Given the description of an element on the screen output the (x, y) to click on. 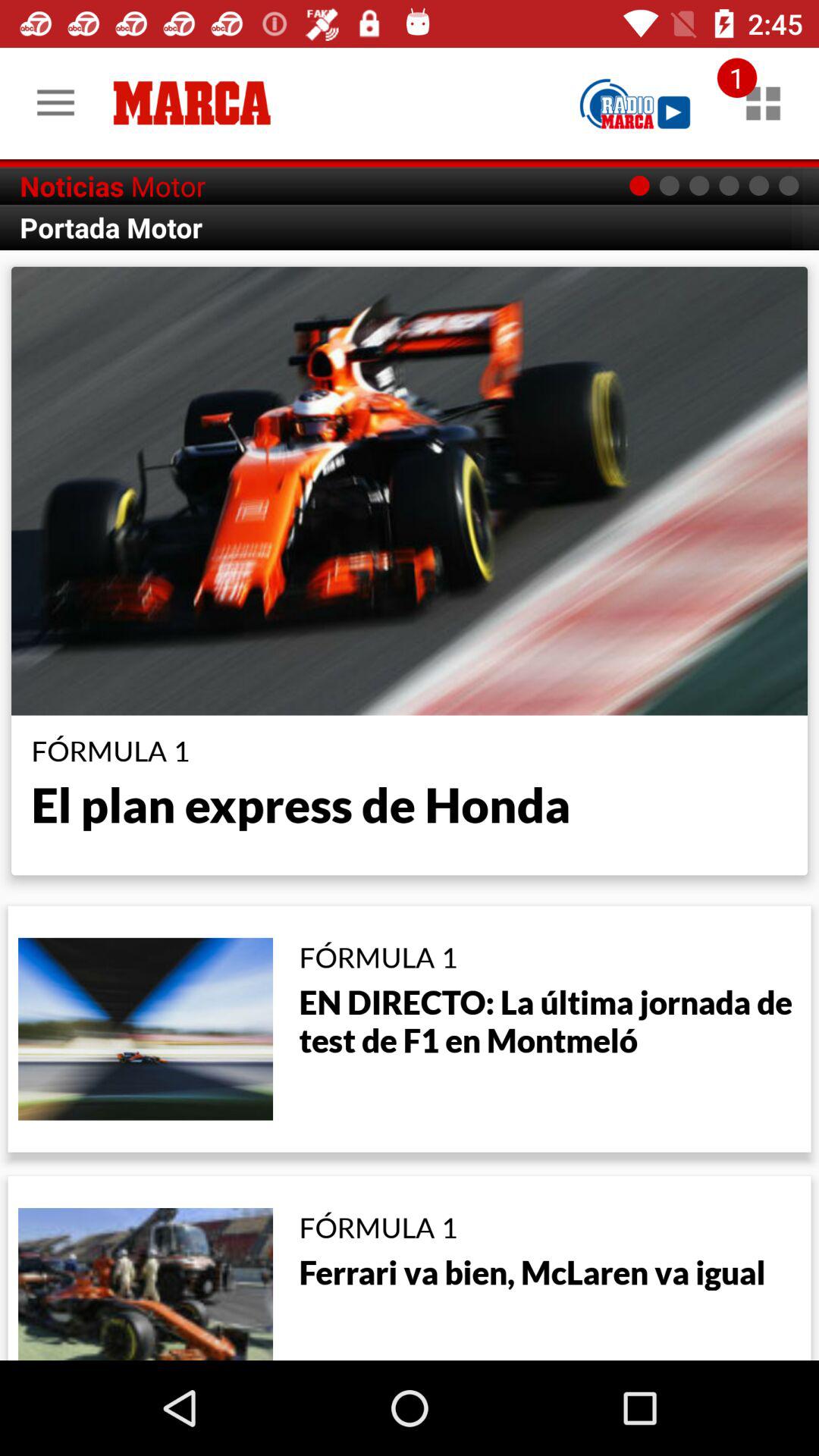
open menu (763, 103)
